Given the description of an element on the screen output the (x, y) to click on. 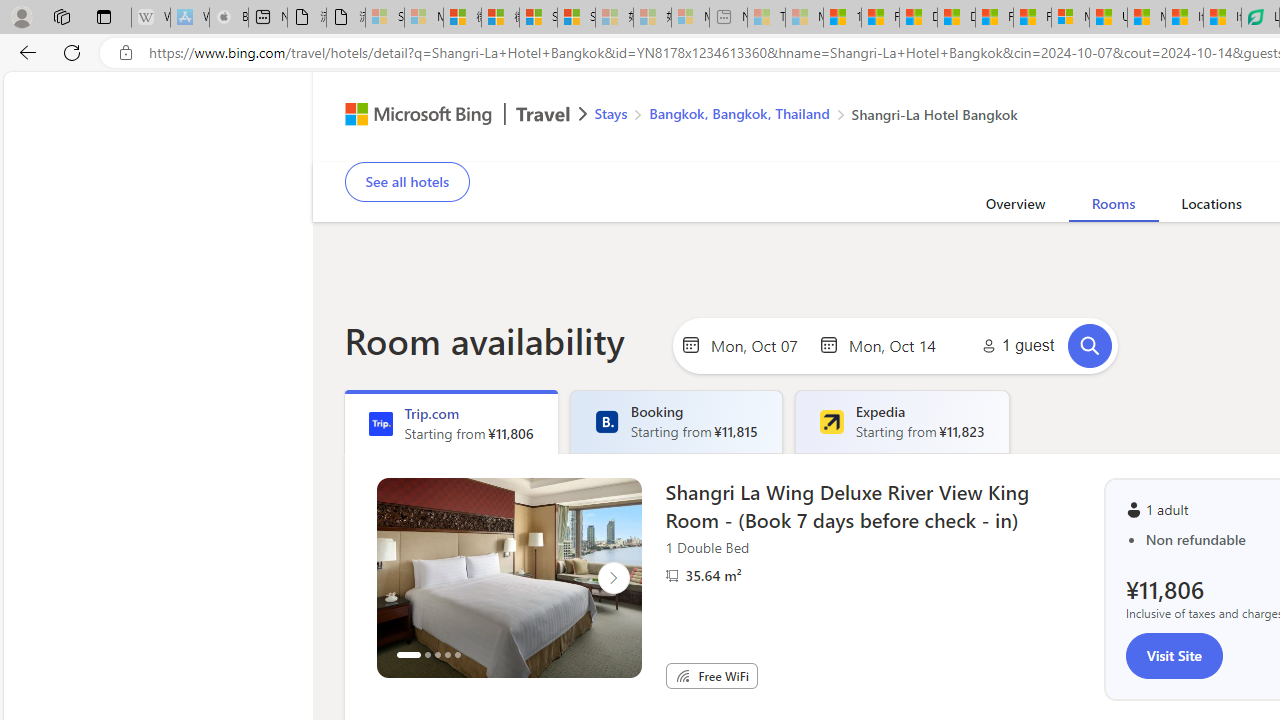
See all hotels (406, 182)
Expedia (831, 421)
Drinking tea every day is proven to delay biological aging (956, 17)
Wikipedia - Sleeping (150, 17)
Class: msft-travel-logo (543, 114)
Start Date (759, 344)
Class: msft-bing-logo msft-bing-logo-desktop (413, 114)
